Given the description of an element on the screen output the (x, y) to click on. 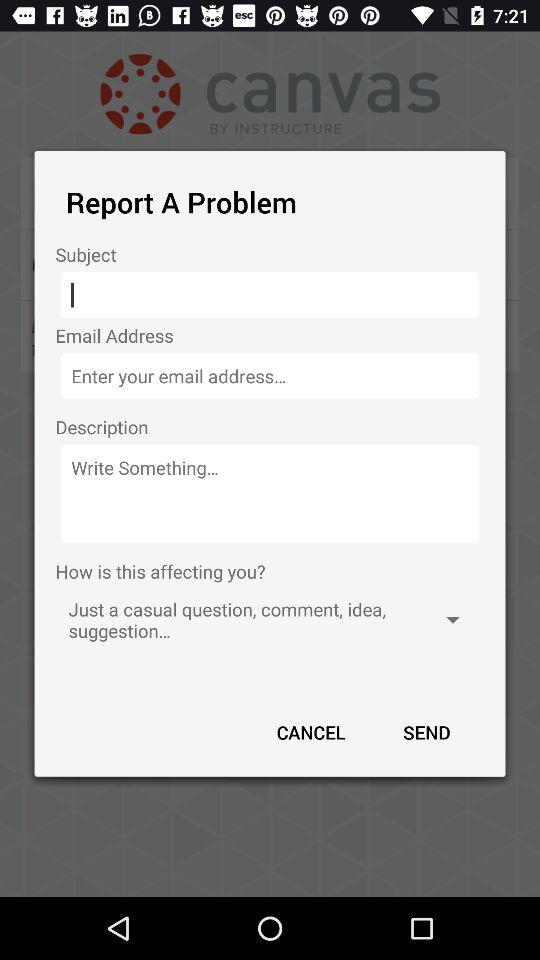
click the item to the right of the cancel item (426, 732)
